Given the description of an element on the screen output the (x, y) to click on. 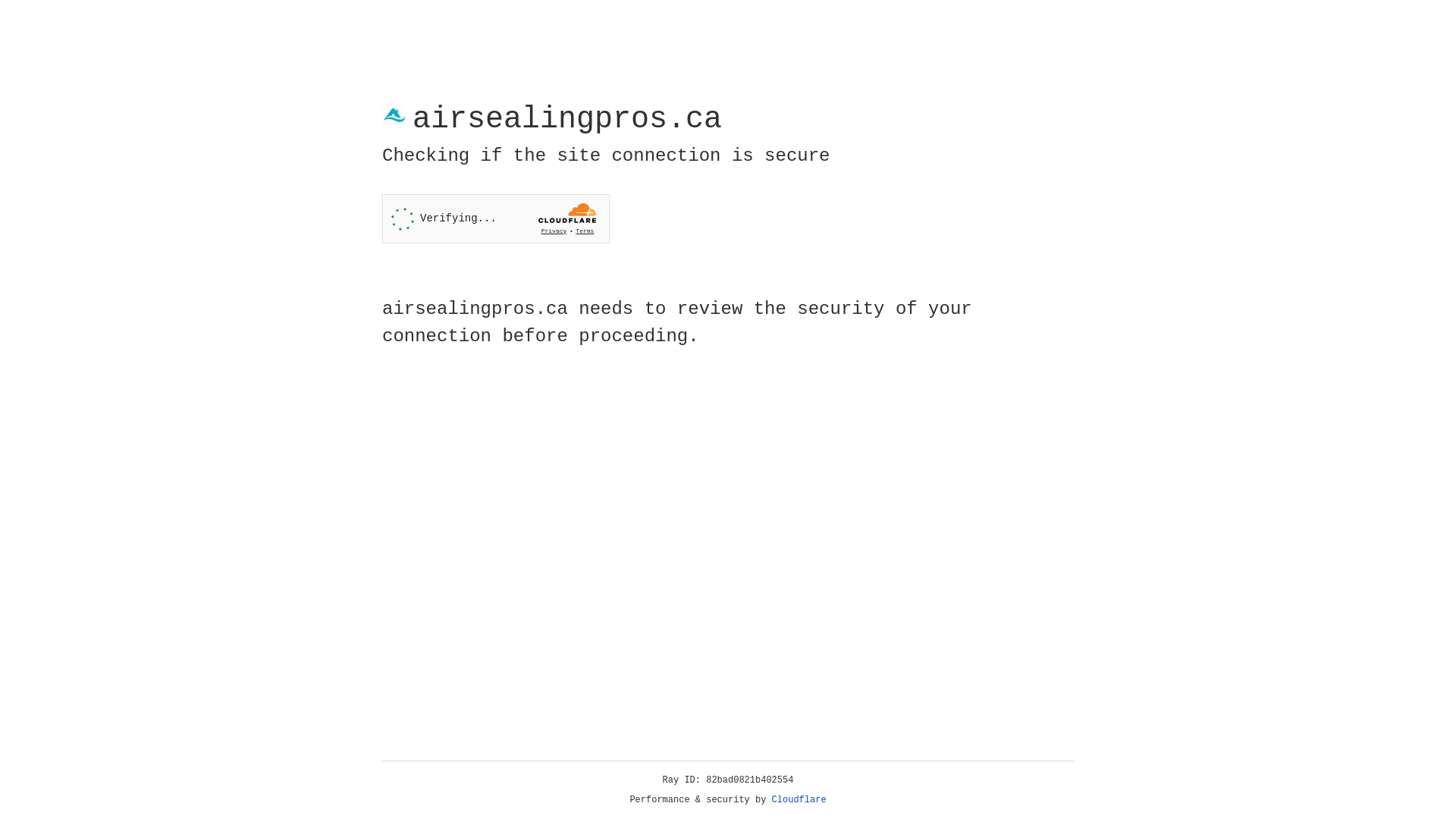
Widget containing a Cloudflare security challenge Element type: hover (495, 218)
Cloudflare Element type: text (798, 799)
